Given the description of an element on the screen output the (x, y) to click on. 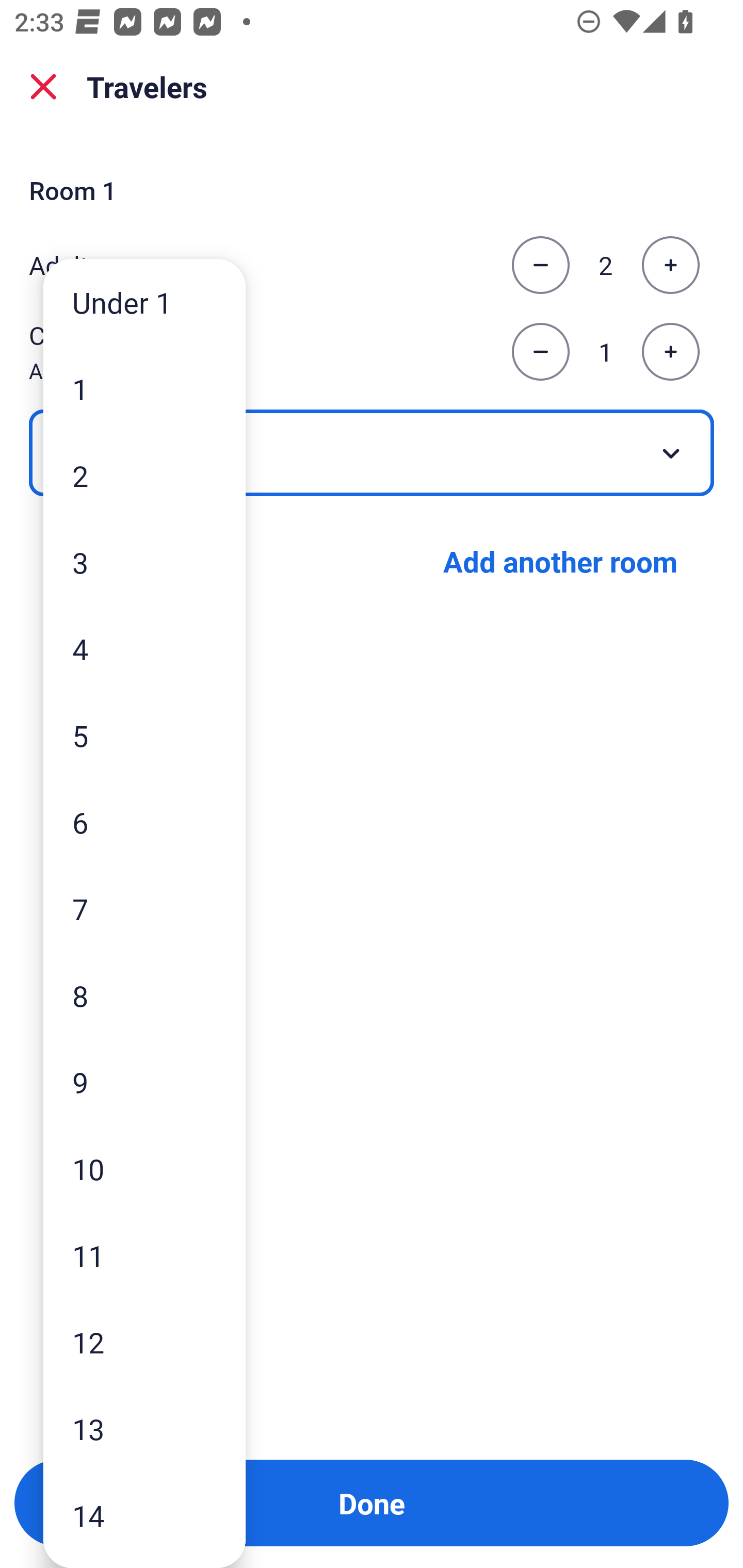
Under 1 (144, 301)
1 (144, 388)
2 (144, 475)
3 (144, 562)
4 (144, 648)
5 (144, 735)
6 (144, 822)
7 (144, 908)
8 (144, 994)
9 (144, 1081)
10 (144, 1168)
11 (144, 1255)
12 (144, 1342)
13 (144, 1429)
14 (144, 1515)
